Given the description of an element on the screen output the (x, y) to click on. 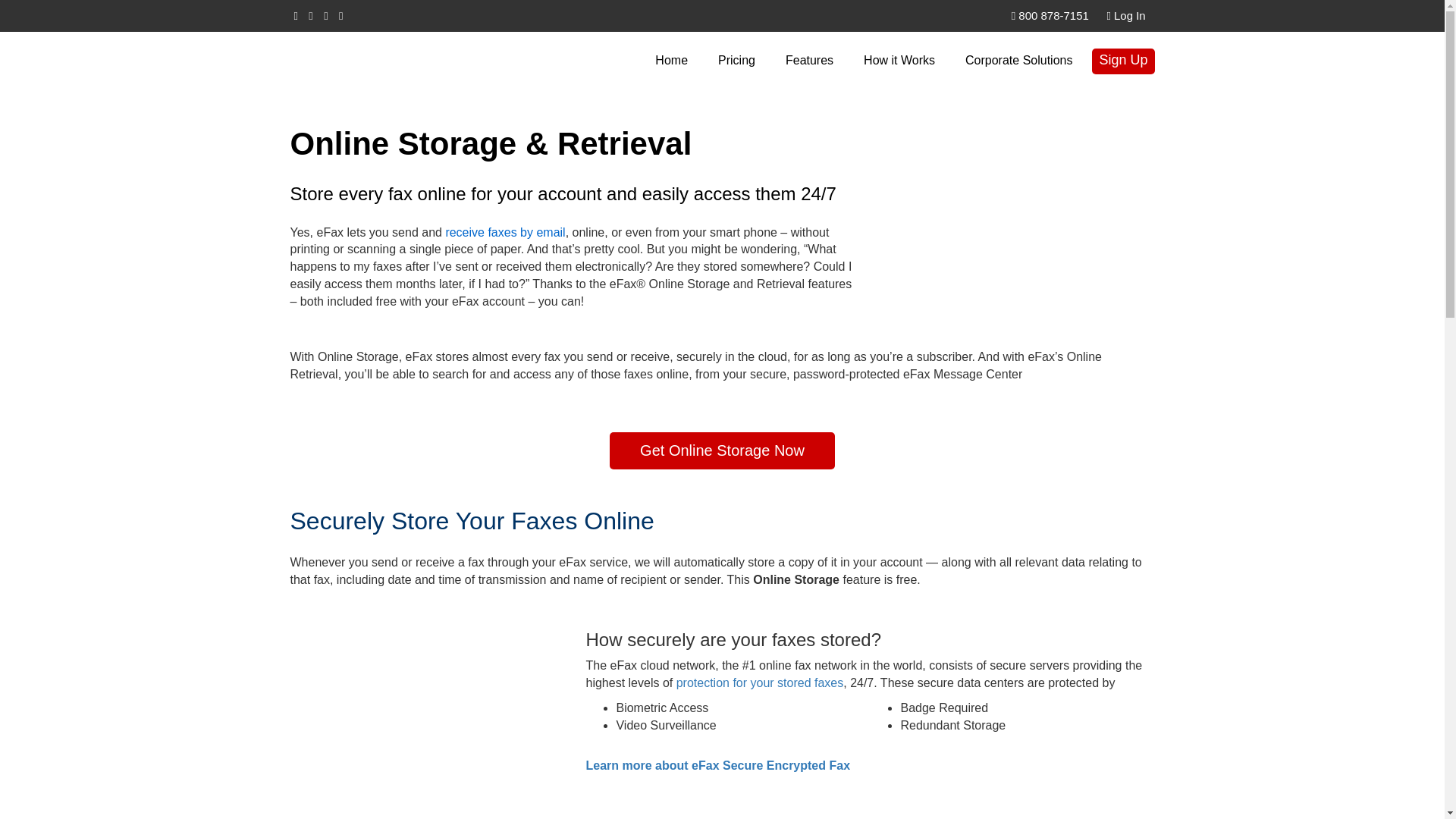
Log In (1125, 15)
Sign Up (1123, 61)
How it Works (898, 60)
Features (809, 60)
800 878-7151 (1050, 15)
Get Online Storage Now (721, 450)
800 878-7151 (1050, 15)
Home (670, 60)
Corporate Solutions (1018, 60)
Sign Up (1123, 61)
